Given the description of an element on the screen output the (x, y) to click on. 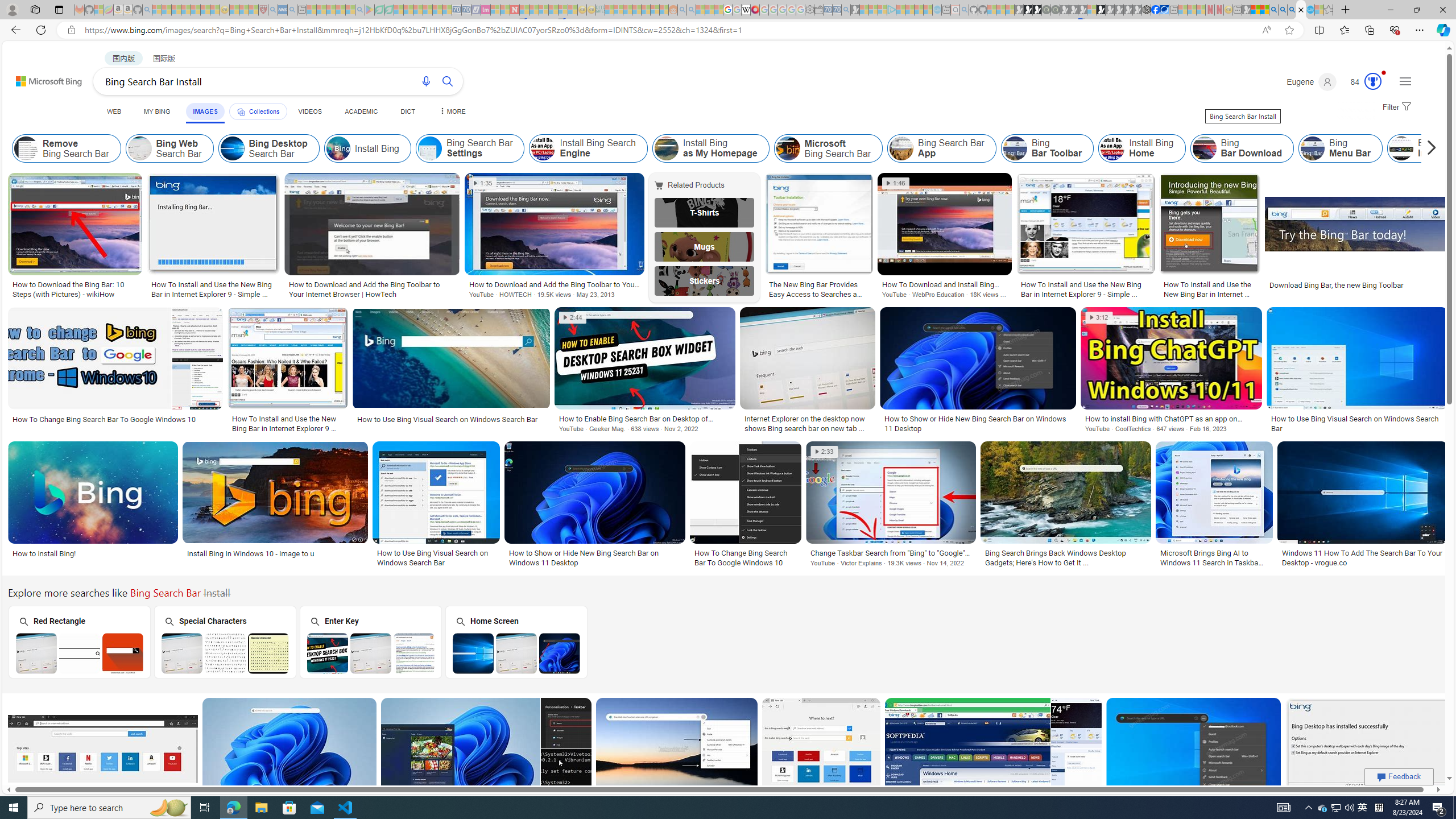
Microsoft Start Gaming - Sleeping (854, 9)
Red Rectangle (78, 641)
Download Bing Bar, the new Bing Toolbar (1336, 284)
Nordace - Cooler Bags (1146, 9)
Install Bing (338, 148)
Home Screen (515, 641)
